Given the description of an element on the screen output the (x, y) to click on. 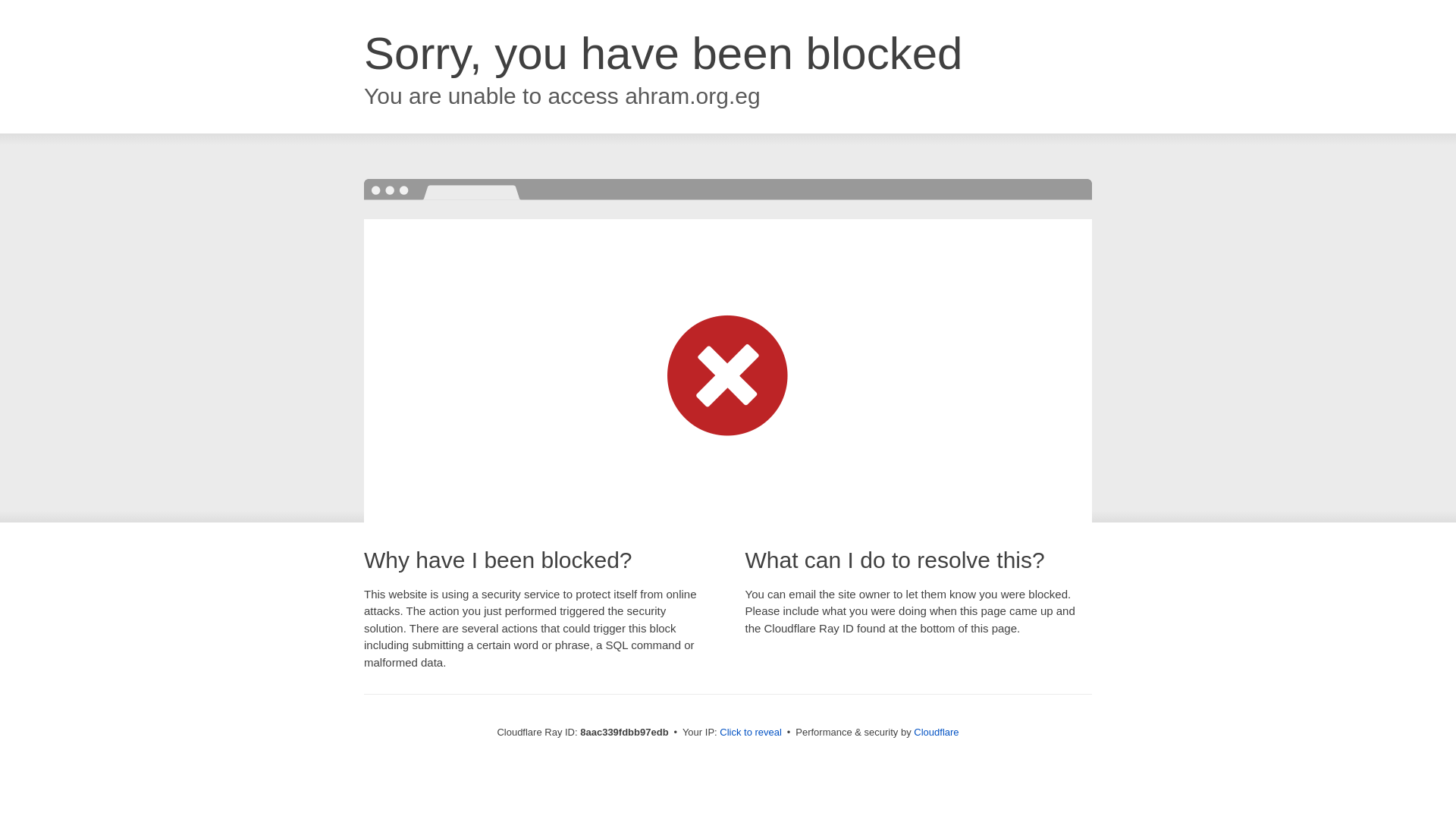
Click to reveal (750, 732)
Cloudflare (936, 731)
